Given the description of an element on the screen output the (x, y) to click on. 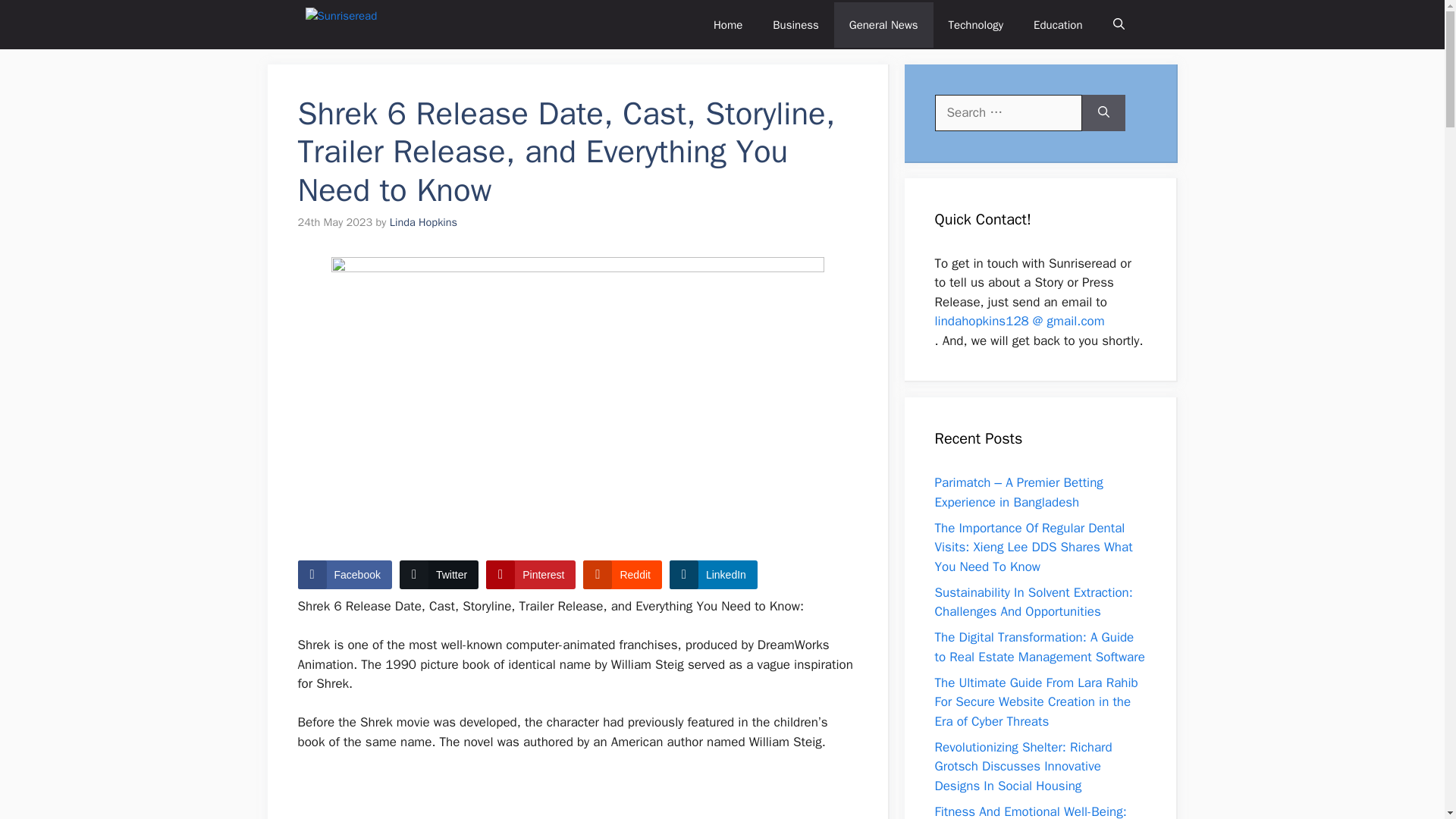
Home (727, 23)
Technology (976, 23)
Twitter (438, 574)
Education (1057, 23)
Reddit (622, 574)
Pinterest (530, 574)
Facebook (344, 574)
Search for: (1007, 113)
Business (795, 23)
Sunriseread (355, 24)
General News (883, 23)
Linda Hopkins (423, 222)
